Given the description of an element on the screen output the (x, y) to click on. 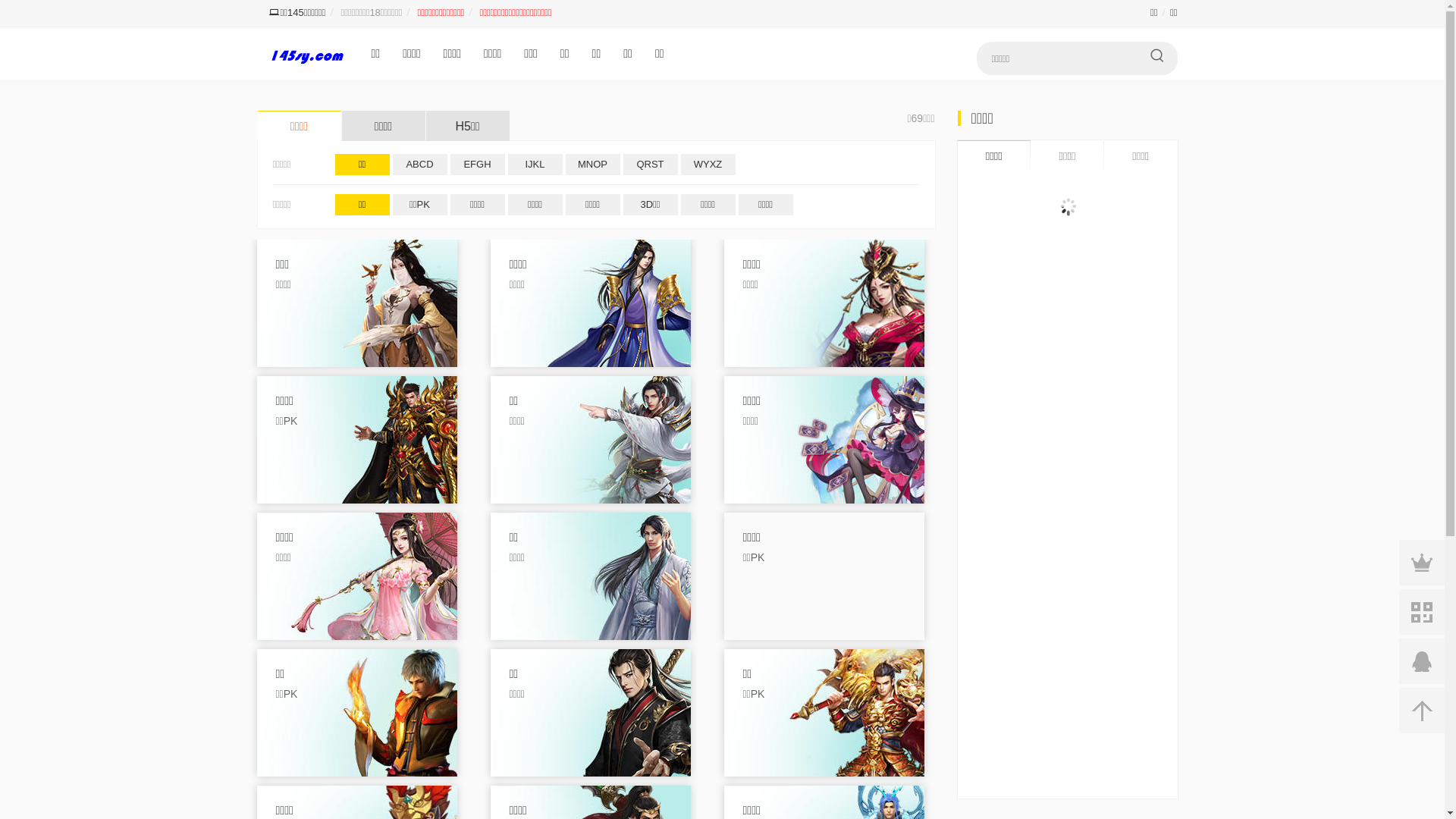
WYXZ Element type: text (707, 164)
QRST Element type: text (650, 164)
IJKL Element type: text (535, 164)
MNOP Element type: text (592, 164)
ABCD Element type: text (419, 164)
EFGH Element type: text (477, 164)
